Given the description of an element on the screen output the (x, y) to click on. 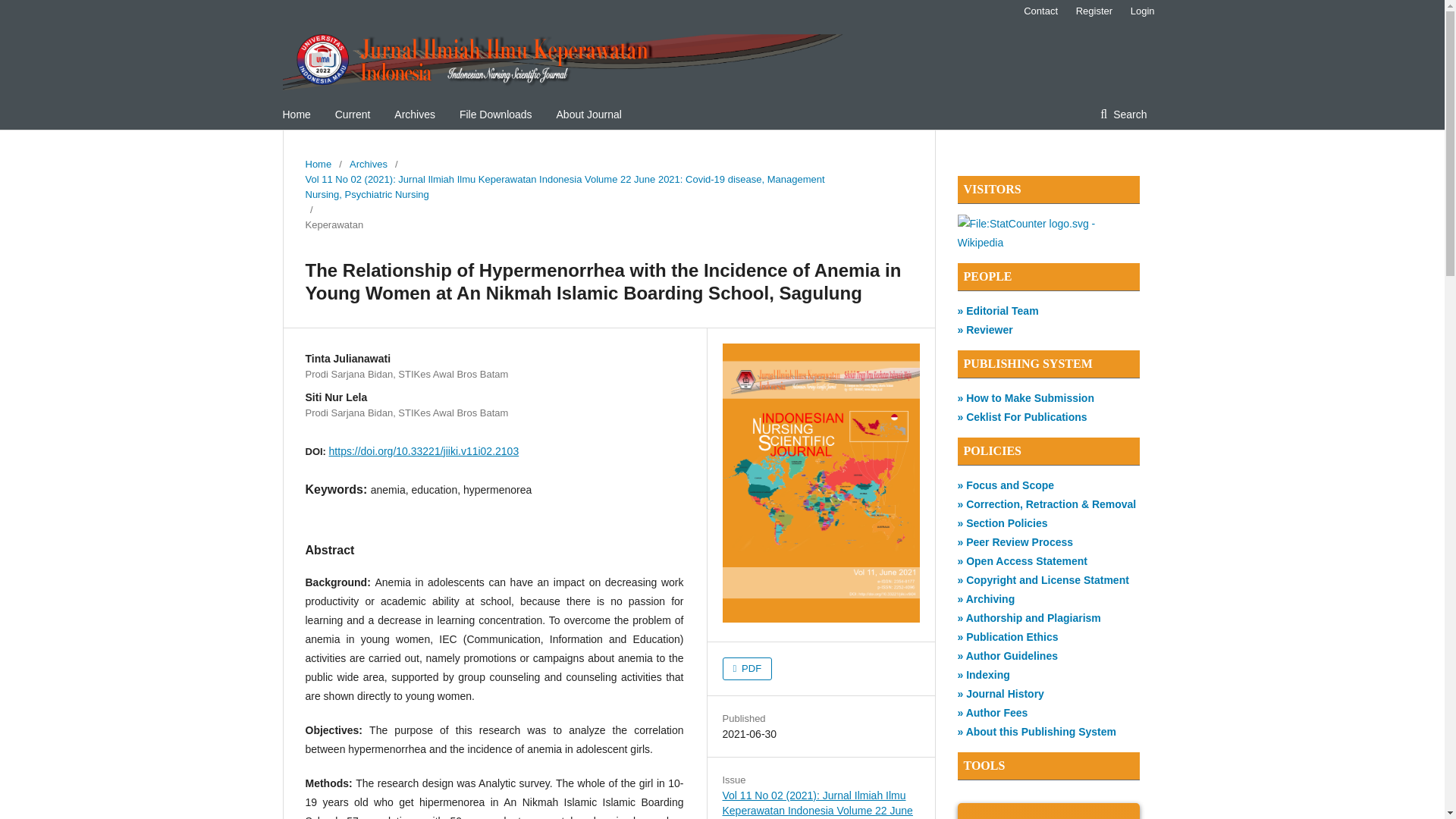
Home (296, 114)
Register (1093, 11)
File Downloads (496, 114)
PDF (746, 668)
Current (352, 114)
About Journal (588, 114)
Contact (1040, 11)
Archives (368, 164)
Login (1138, 11)
Search (1122, 114)
Archives (414, 114)
Home (317, 164)
